Given the description of an element on the screen output the (x, y) to click on. 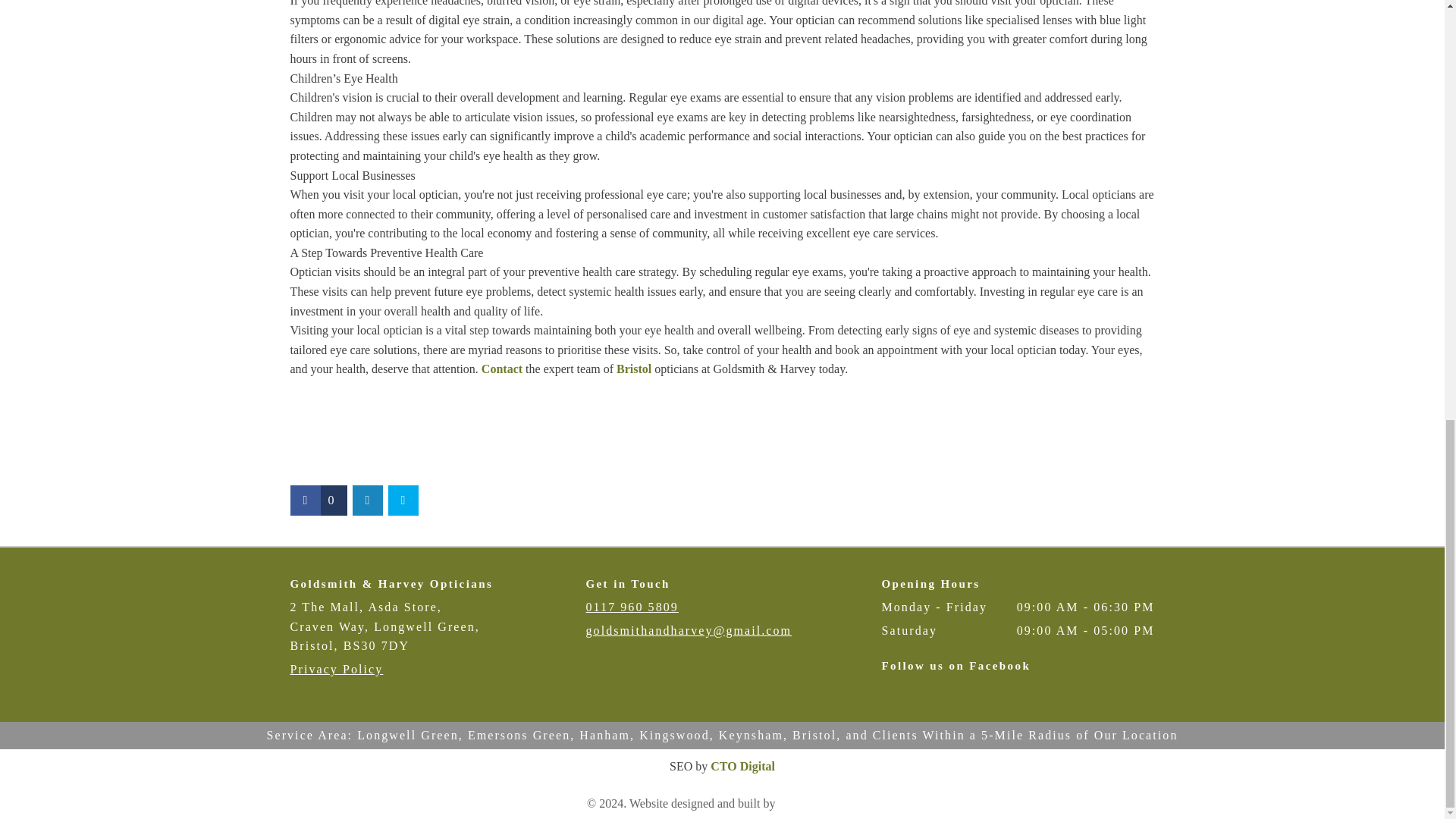
Bristol (632, 368)
0117 960 5809 (631, 606)
CTO Digital (742, 766)
Contact (501, 368)
Privacy Policy (335, 668)
0 (317, 500)
Reach Solutions (817, 802)
